Given the description of an element on the screen output the (x, y) to click on. 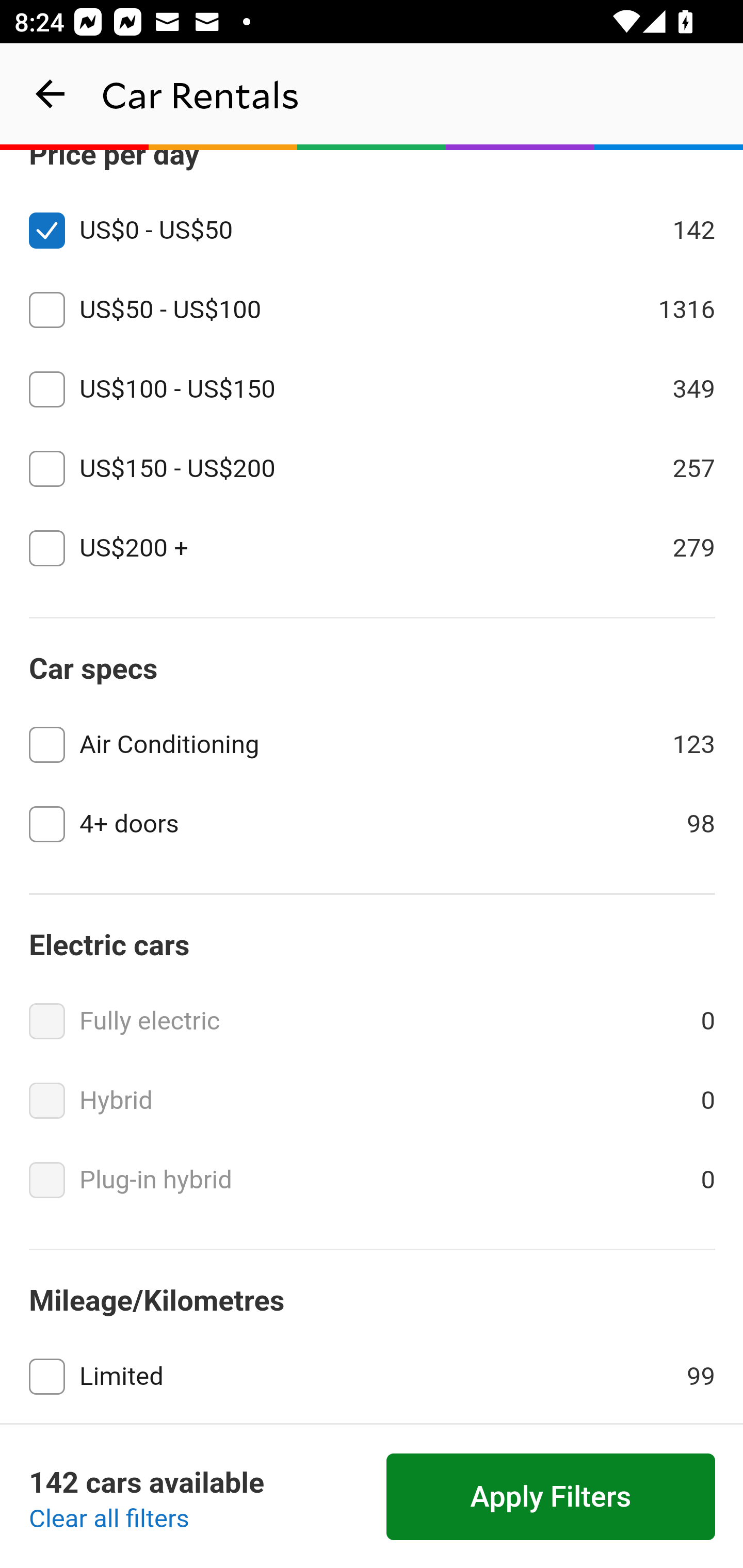
navigation_button (50, 93)
Apply Filters (551, 1497)
Clear all filters (108, 1519)
